Given the description of an element on the screen output the (x, y) to click on. 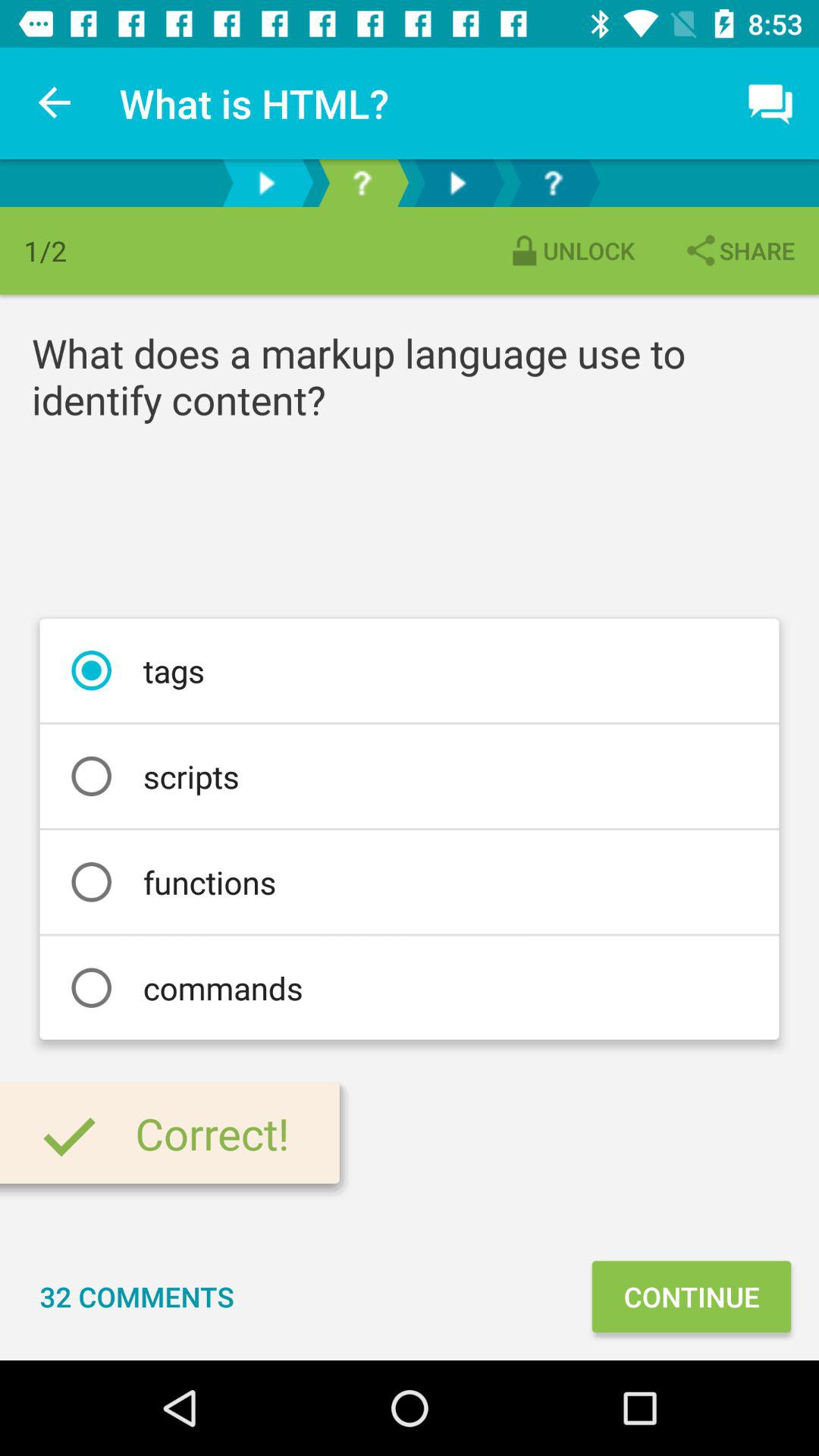
launch icon to the right of unlock (738, 250)
